Given the description of an element on the screen output the (x, y) to click on. 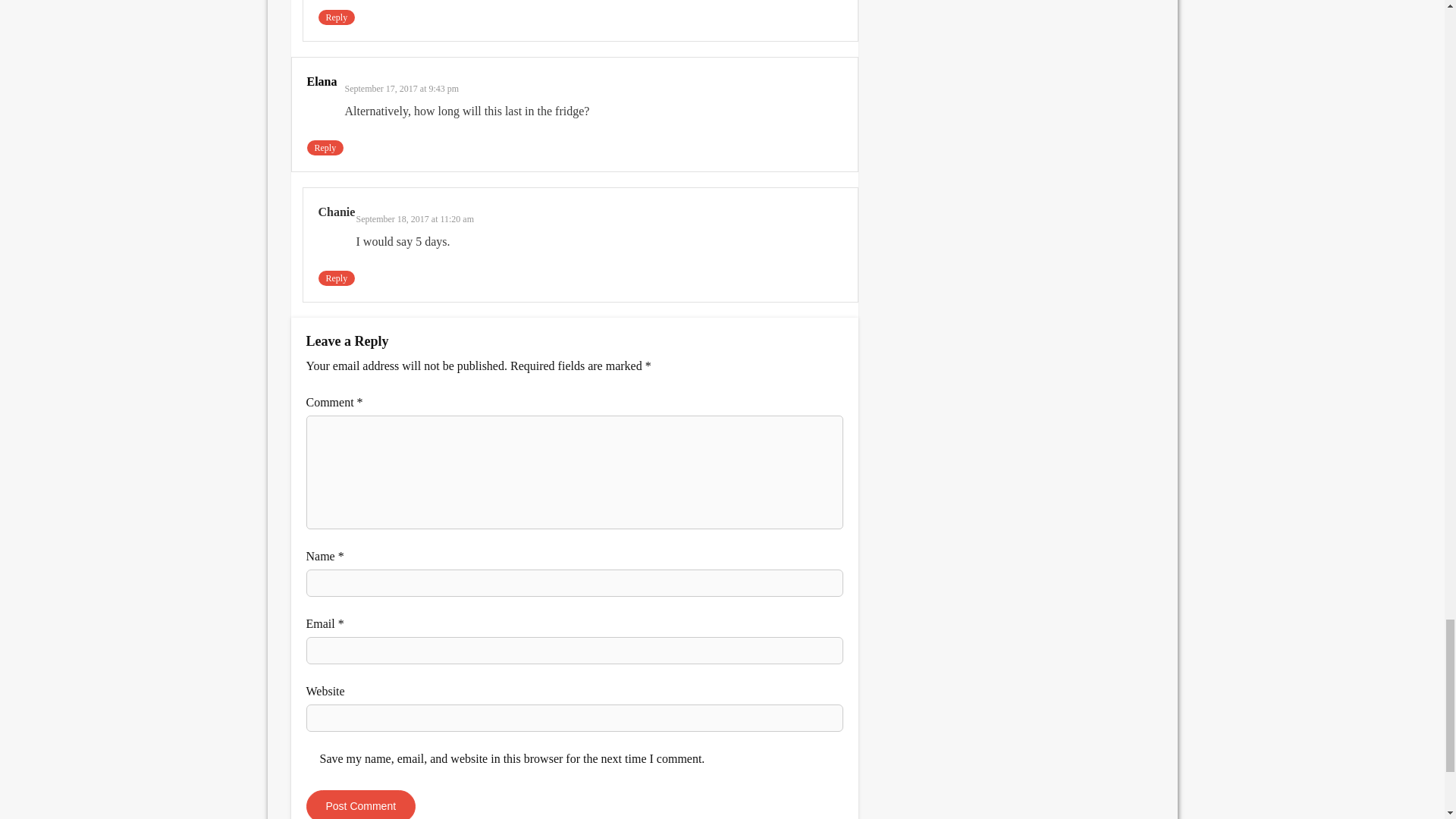
Post Comment (360, 804)
